Given the description of an element on the screen output the (x, y) to click on. 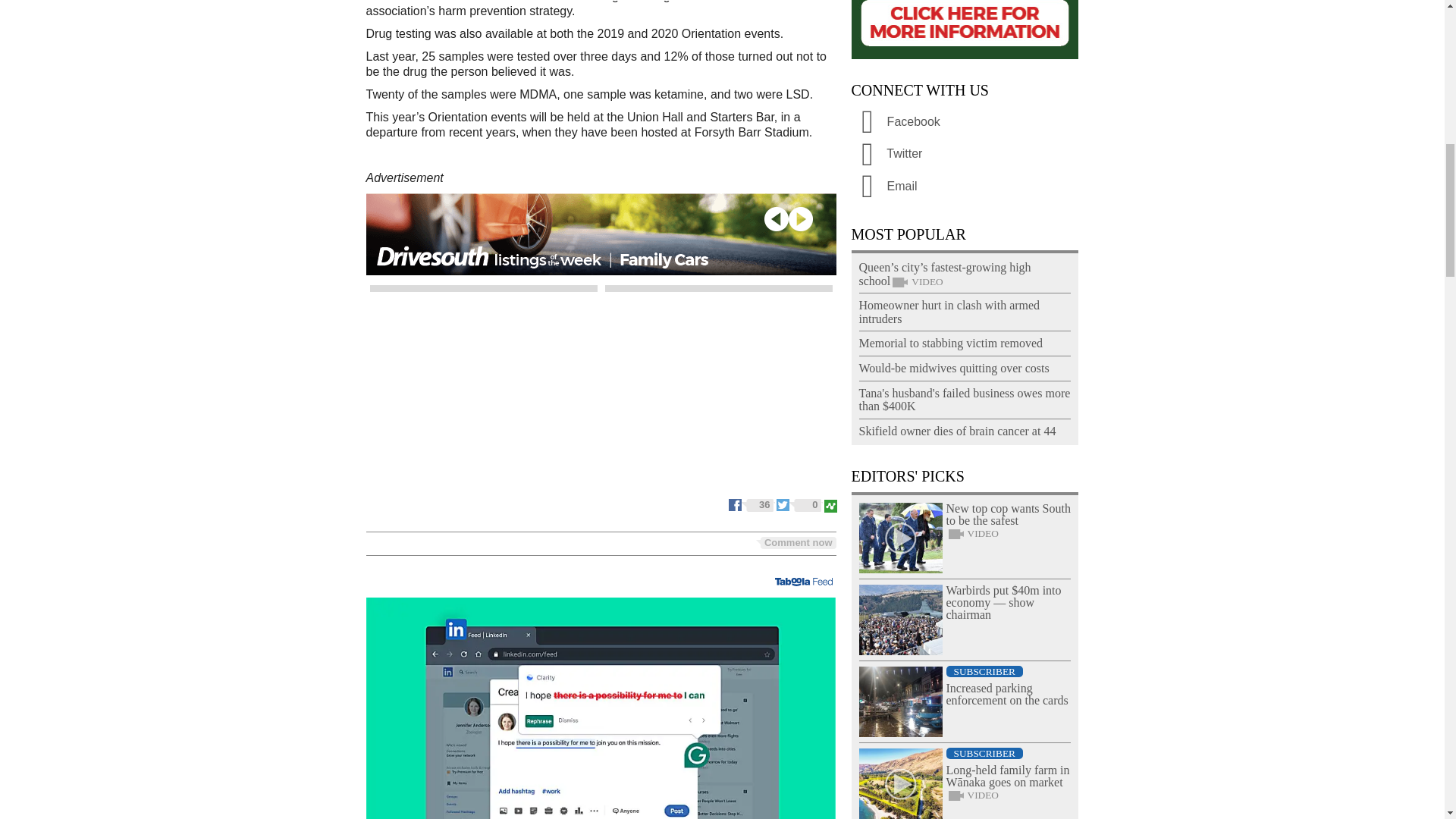
Facebook (752, 503)
ShareThis (829, 503)
Twitter (800, 503)
